Given the description of an element on the screen output the (x, y) to click on. 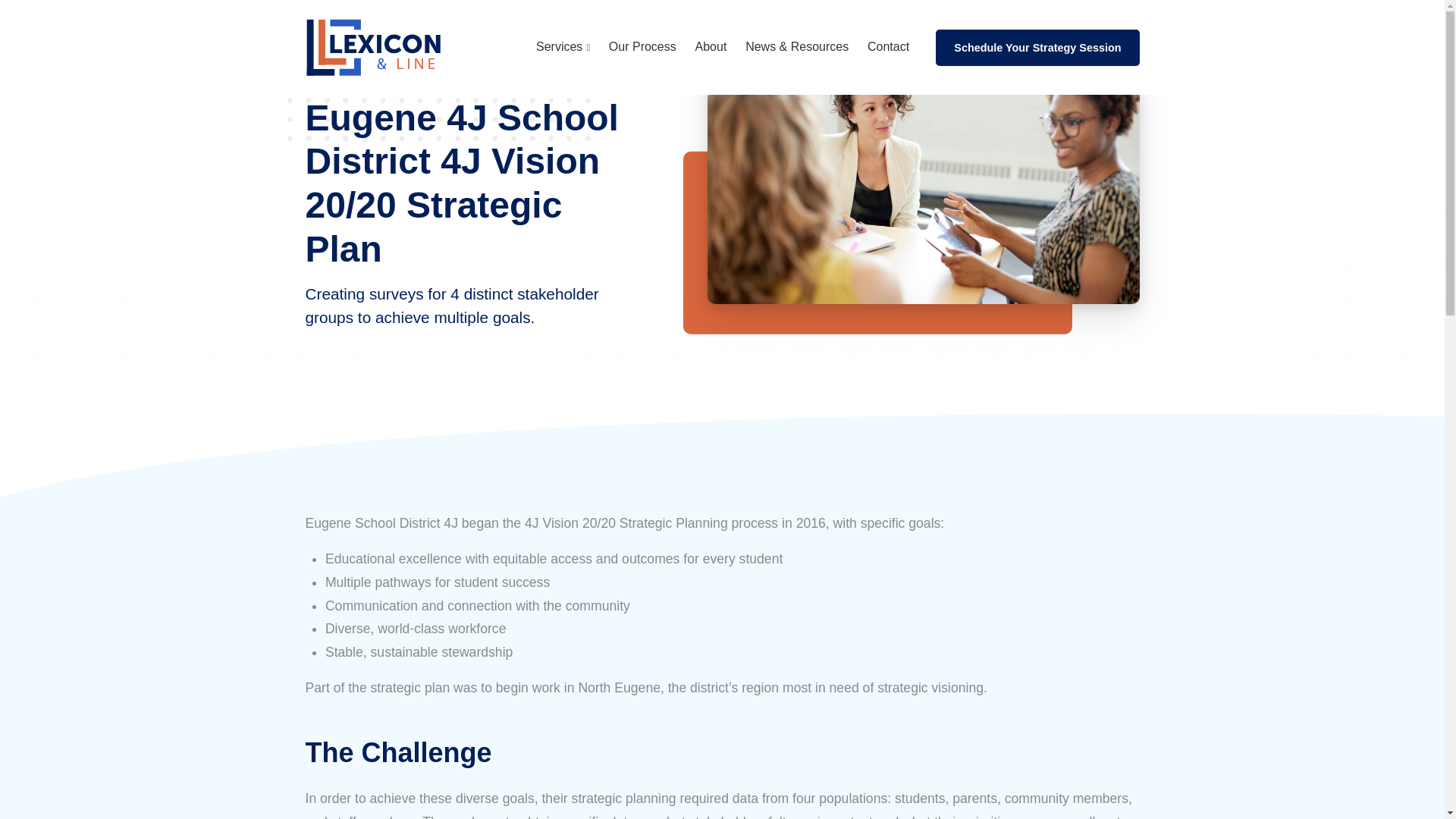
About (711, 47)
Services (563, 47)
Our Process (642, 47)
Contact (888, 47)
Schedule Your Strategy Session (1037, 47)
Back to All Case Studies (475, 72)
